Given the description of an element on the screen output the (x, y) to click on. 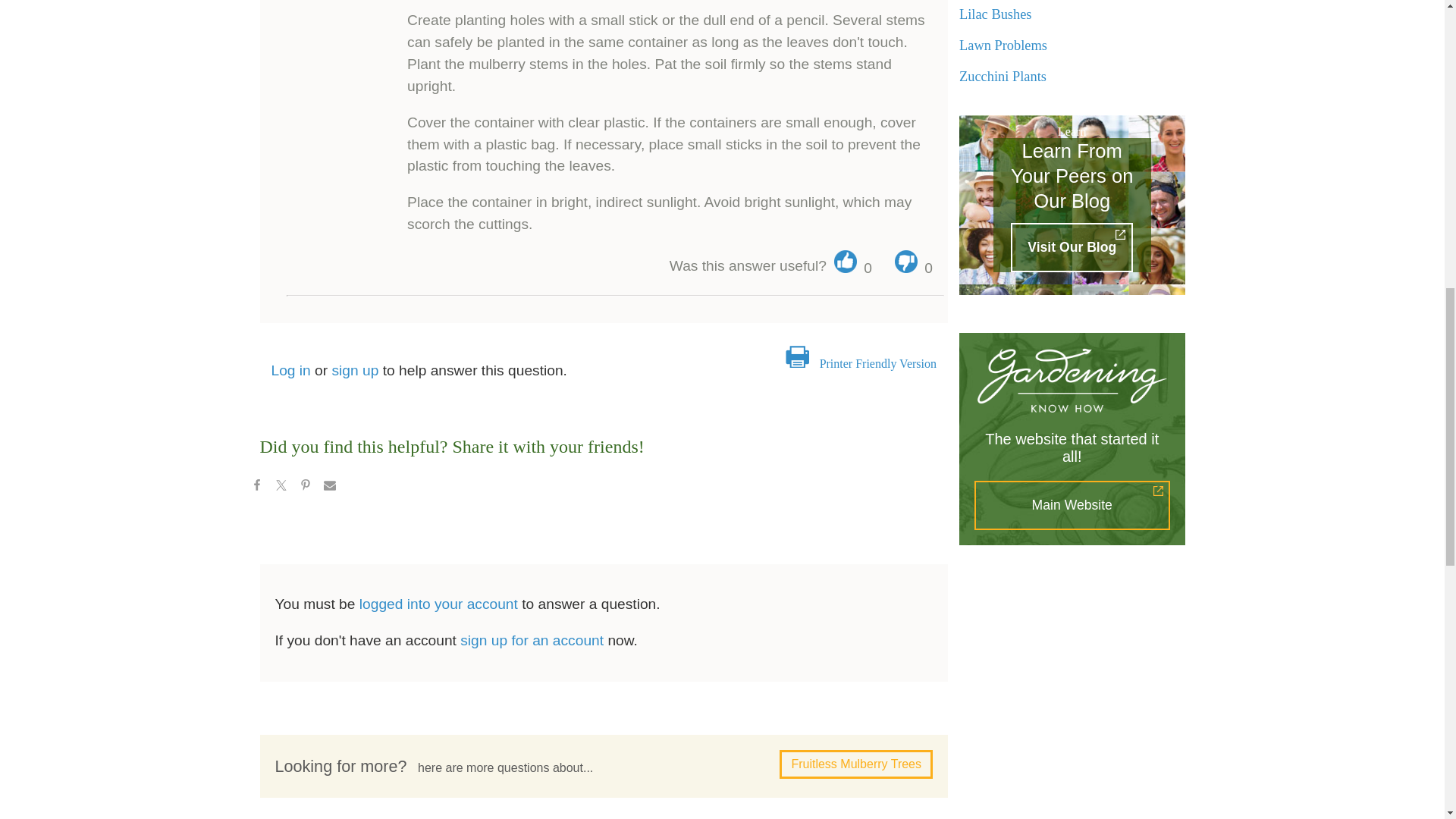
Printer Friendly Version (877, 363)
sign up for an account (532, 640)
Share on Twitter (279, 487)
Share via Email (328, 487)
Fruitless Mulberry Trees (855, 764)
Share on Facebook (255, 487)
sign up (354, 370)
Log in (290, 370)
logged into your account (438, 603)
Printer Friendly Version (877, 363)
Share on Pinterest (304, 487)
